Given the description of an element on the screen output the (x, y) to click on. 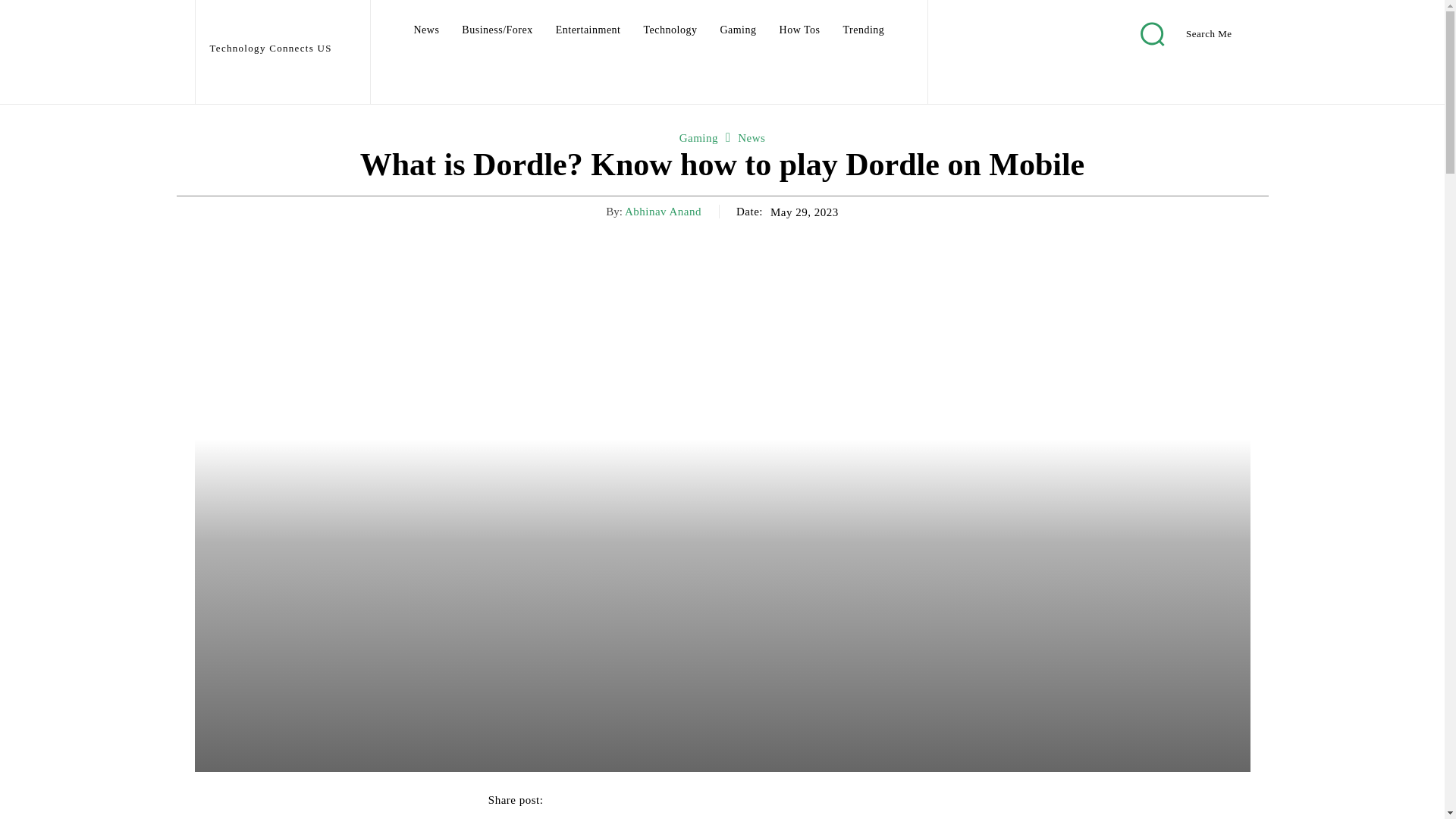
Technology Connects US (280, 35)
Entertainment (588, 30)
Technology Connects US (258, 25)
Technology Connects US (280, 35)
